Given the description of an element on the screen output the (x, y) to click on. 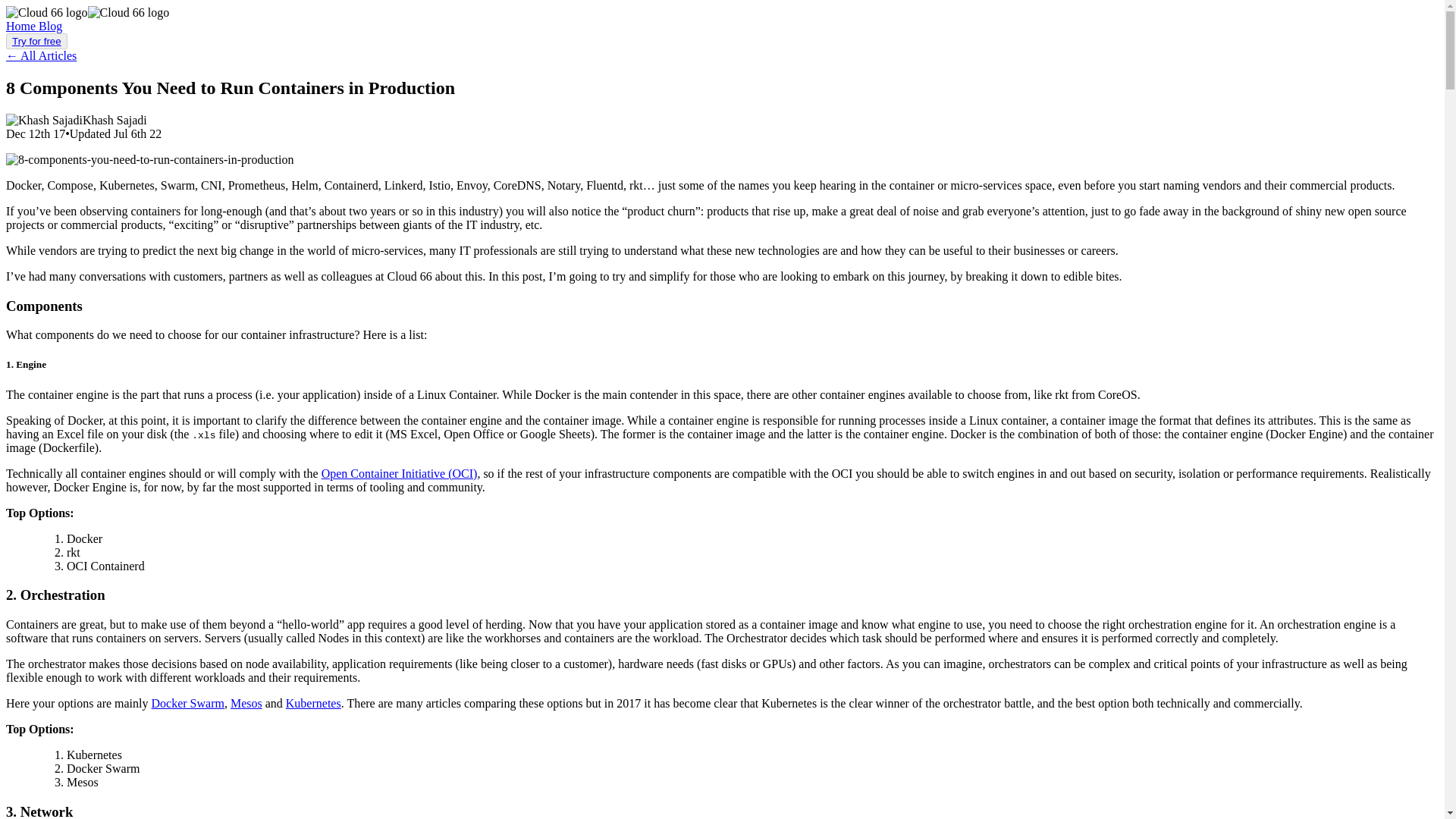
Docker Swarm (187, 703)
Blog (50, 25)
Mesos (246, 703)
Try for free (36, 41)
Kubernetes (312, 703)
Home (22, 25)
Try for free (35, 41)
